Given the description of an element on the screen output the (x, y) to click on. 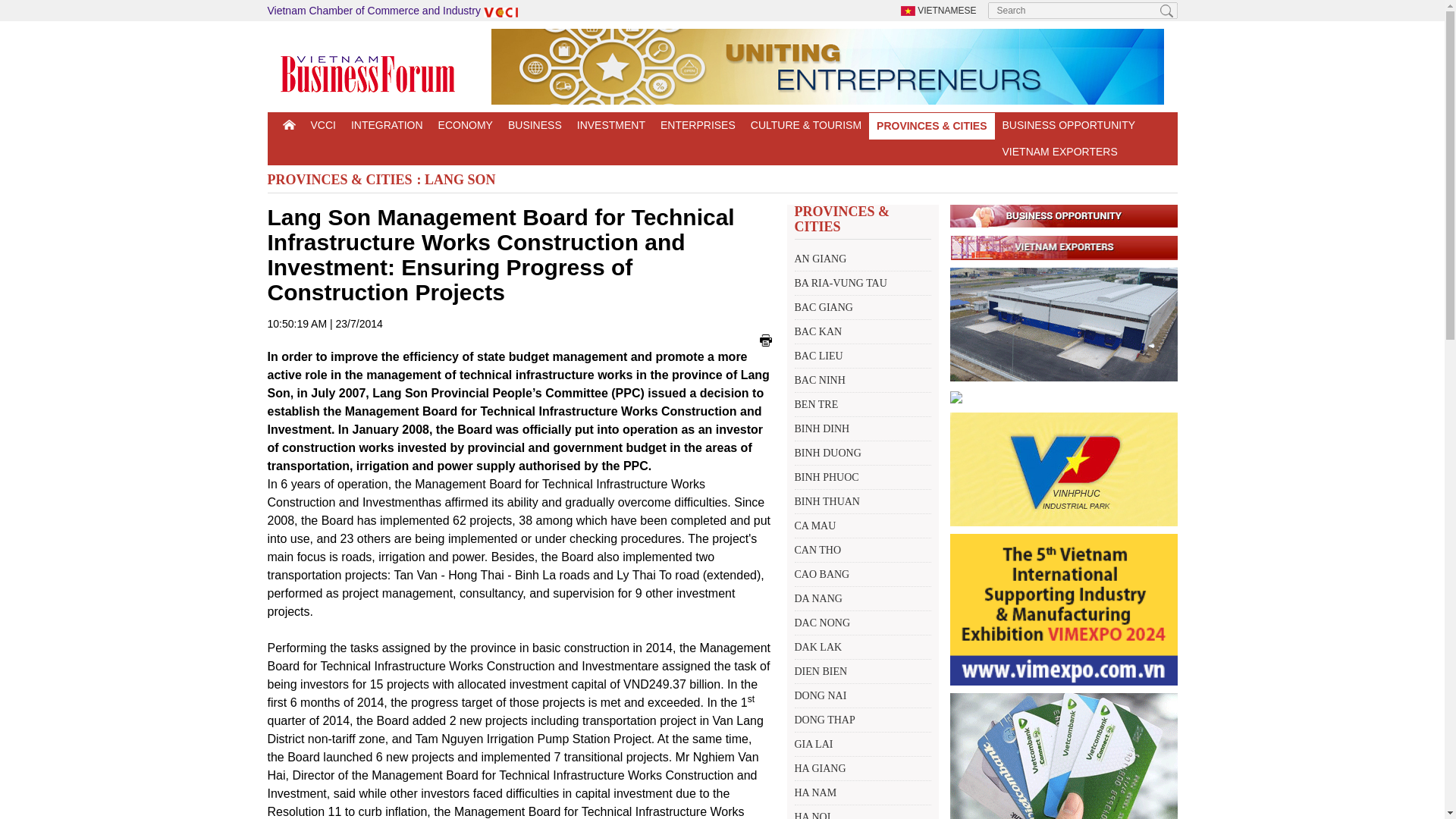
ENTERPRISES (697, 125)
Vietnam Chamber of Commerce and Industry (393, 10)
VIETNAMESE (938, 9)
ECONOMY (465, 125)
INVESTMENT (610, 125)
VIETNAM EXPORTERS (1056, 151)
BUSINESS OPPORTUNITY (1068, 125)
BUSINESS (534, 125)
VCCI (322, 125)
INTEGRATION (386, 125)
